Given the description of an element on the screen output the (x, y) to click on. 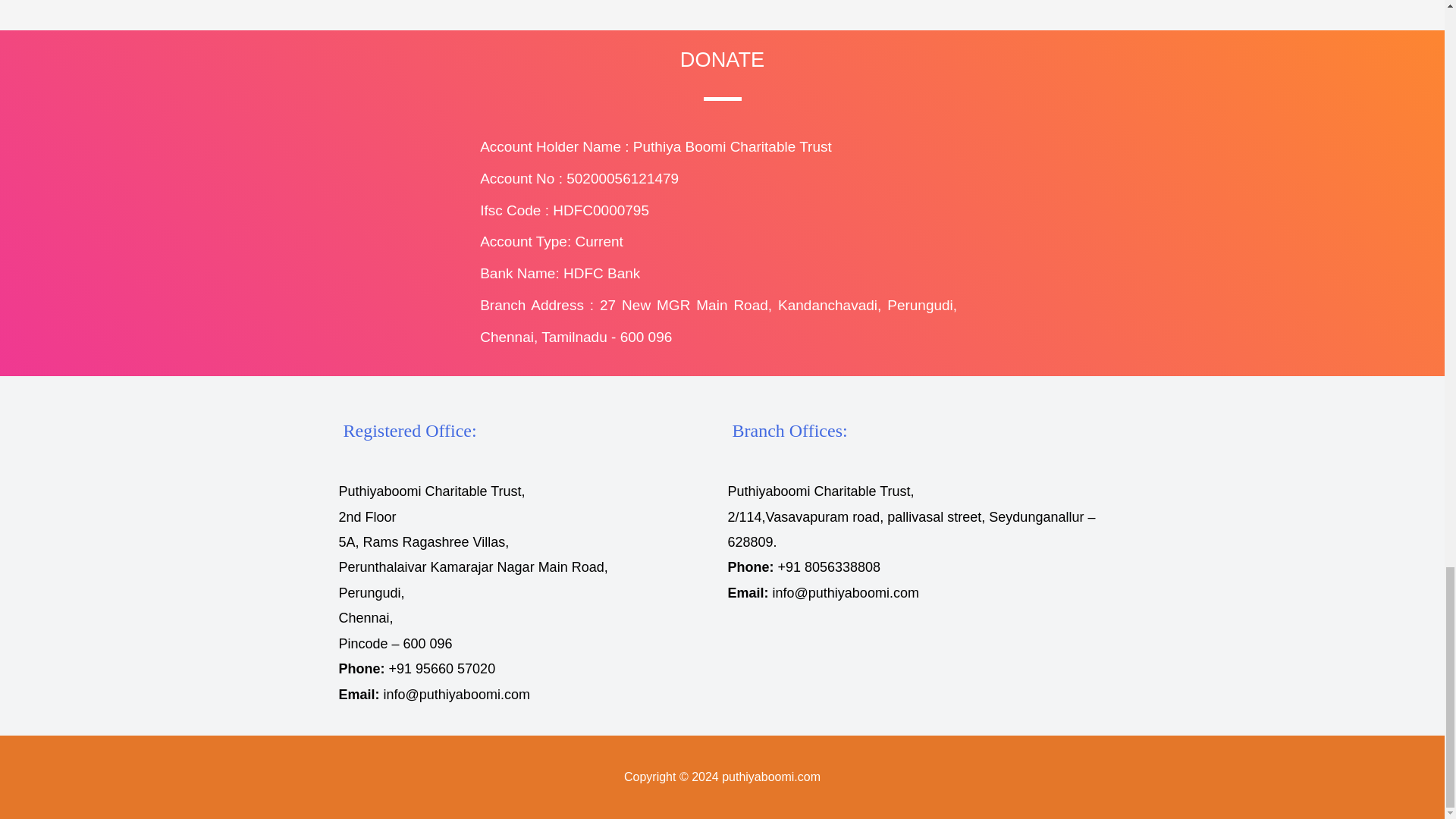
Registered Office: (409, 430)
Branch Offices: (789, 430)
Registered Office (409, 430)
Branch Offices (789, 430)
